Given the description of an element on the screen output the (x, y) to click on. 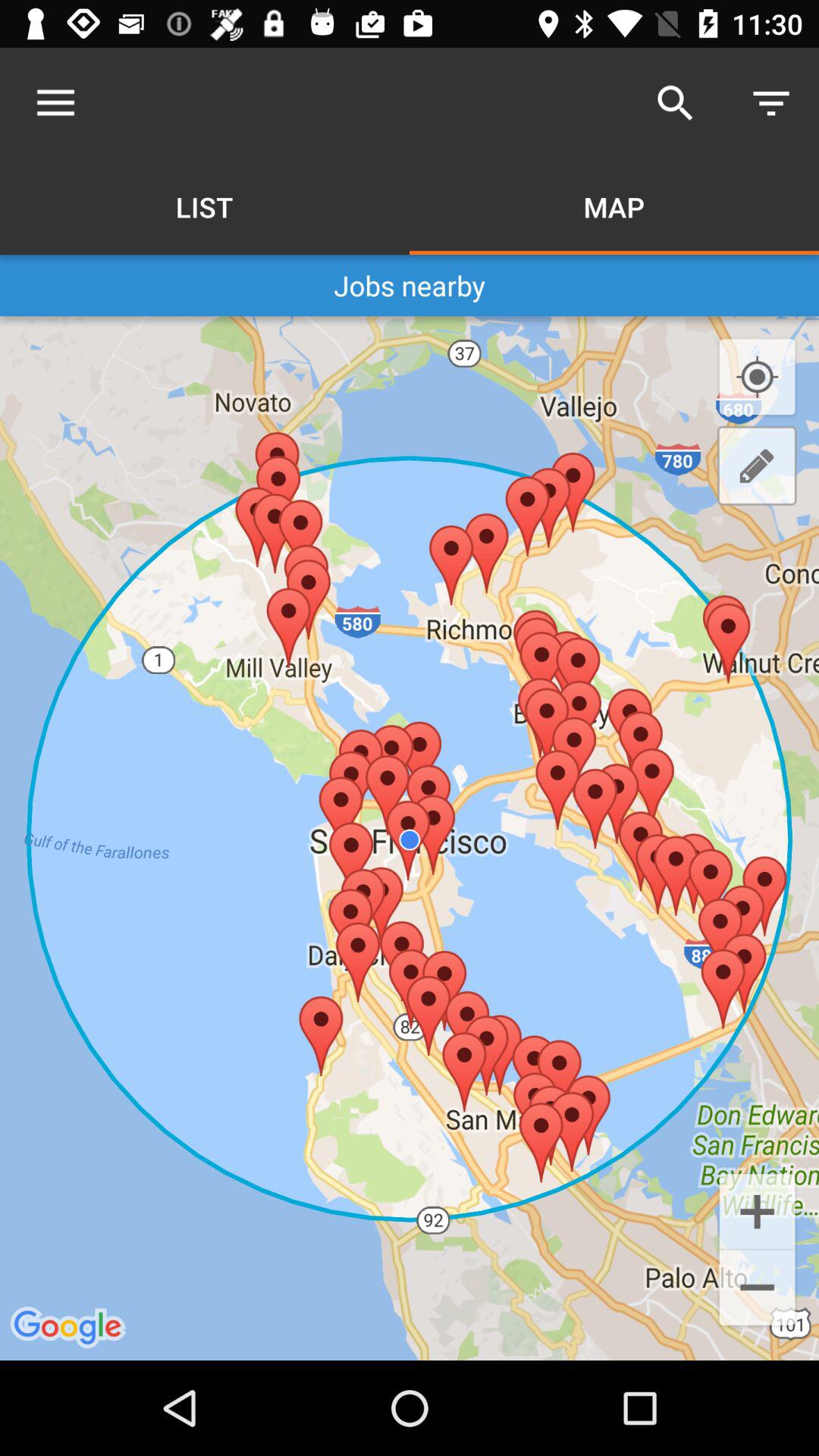
launch icon below jobs nearby (409, 838)
